Given the description of an element on the screen output the (x, y) to click on. 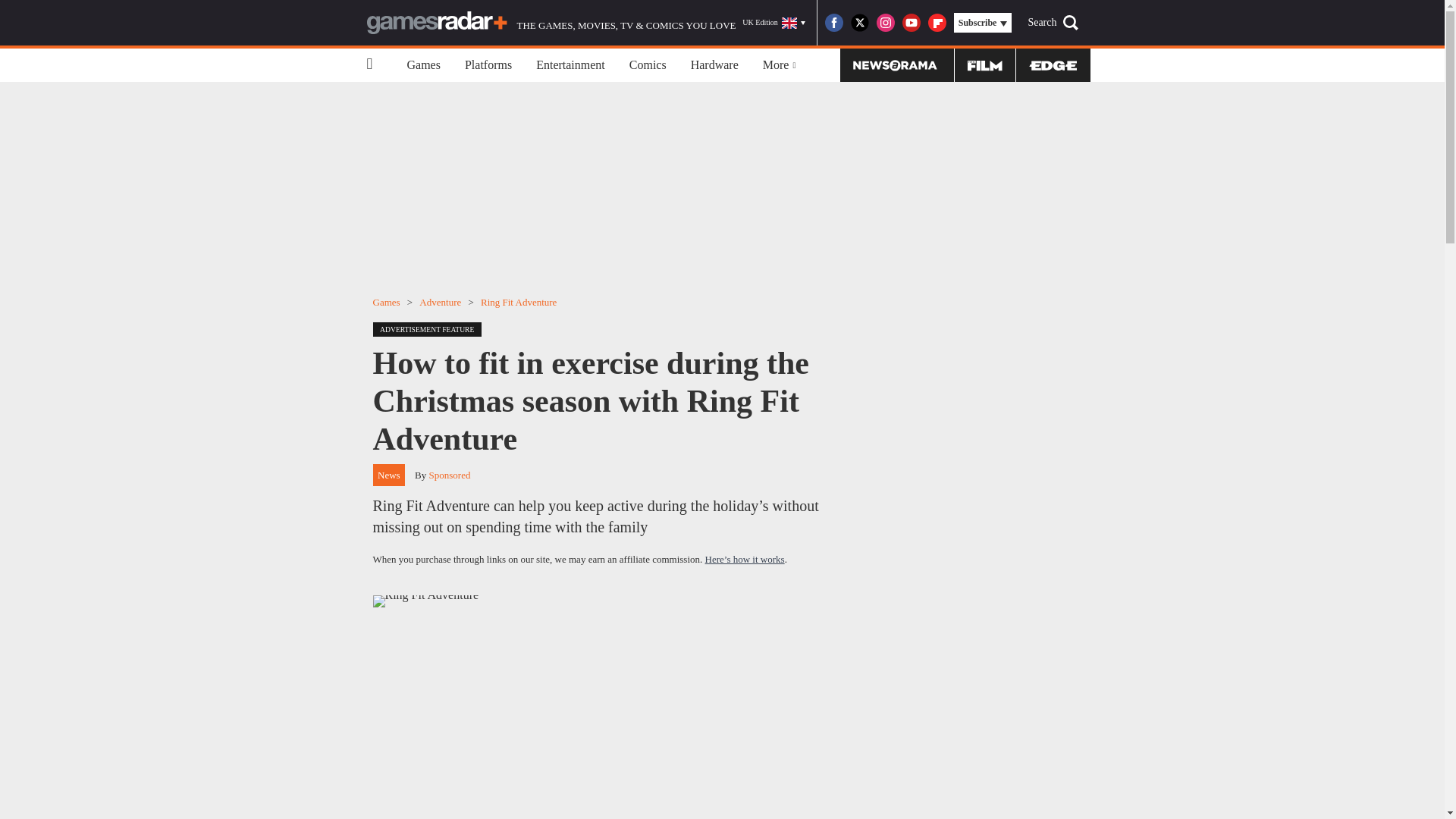
UK Edition (773, 22)
Comics (647, 64)
Games (422, 64)
Adventure (440, 301)
Ring Fit Adventure (518, 301)
Hardware (714, 64)
Platforms (488, 64)
Entertainment (570, 64)
ADVERTISEMENT FEATURE (430, 327)
